Given the description of an element on the screen output the (x, y) to click on. 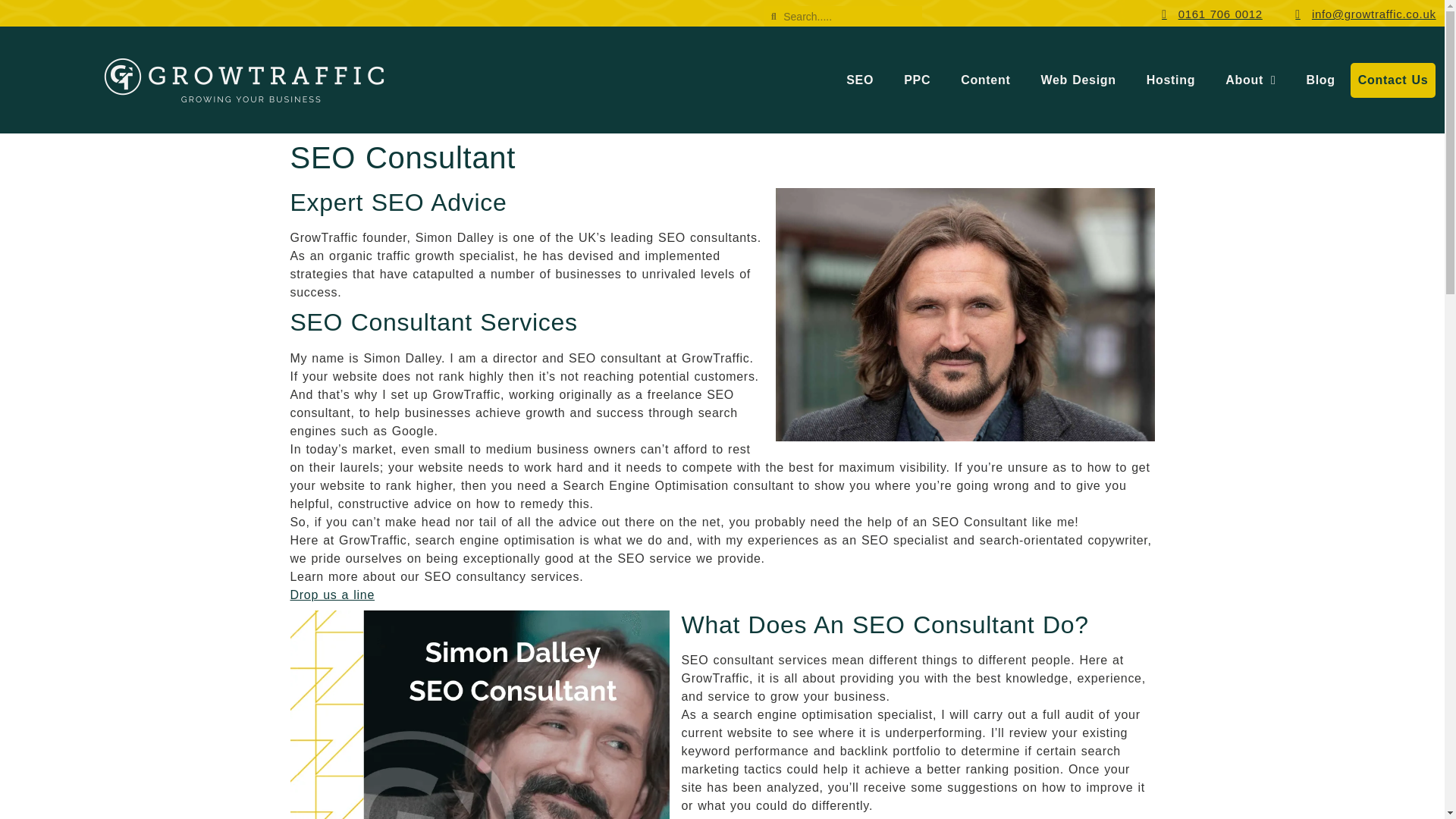
PPC (916, 79)
Blog (1319, 79)
About (1249, 79)
Content (984, 79)
0161 706 0012 (1206, 14)
SEO (859, 79)
Hosting (1170, 79)
Web Design (1078, 79)
Contact Us (1393, 79)
